Given the description of an element on the screen output the (x, y) to click on. 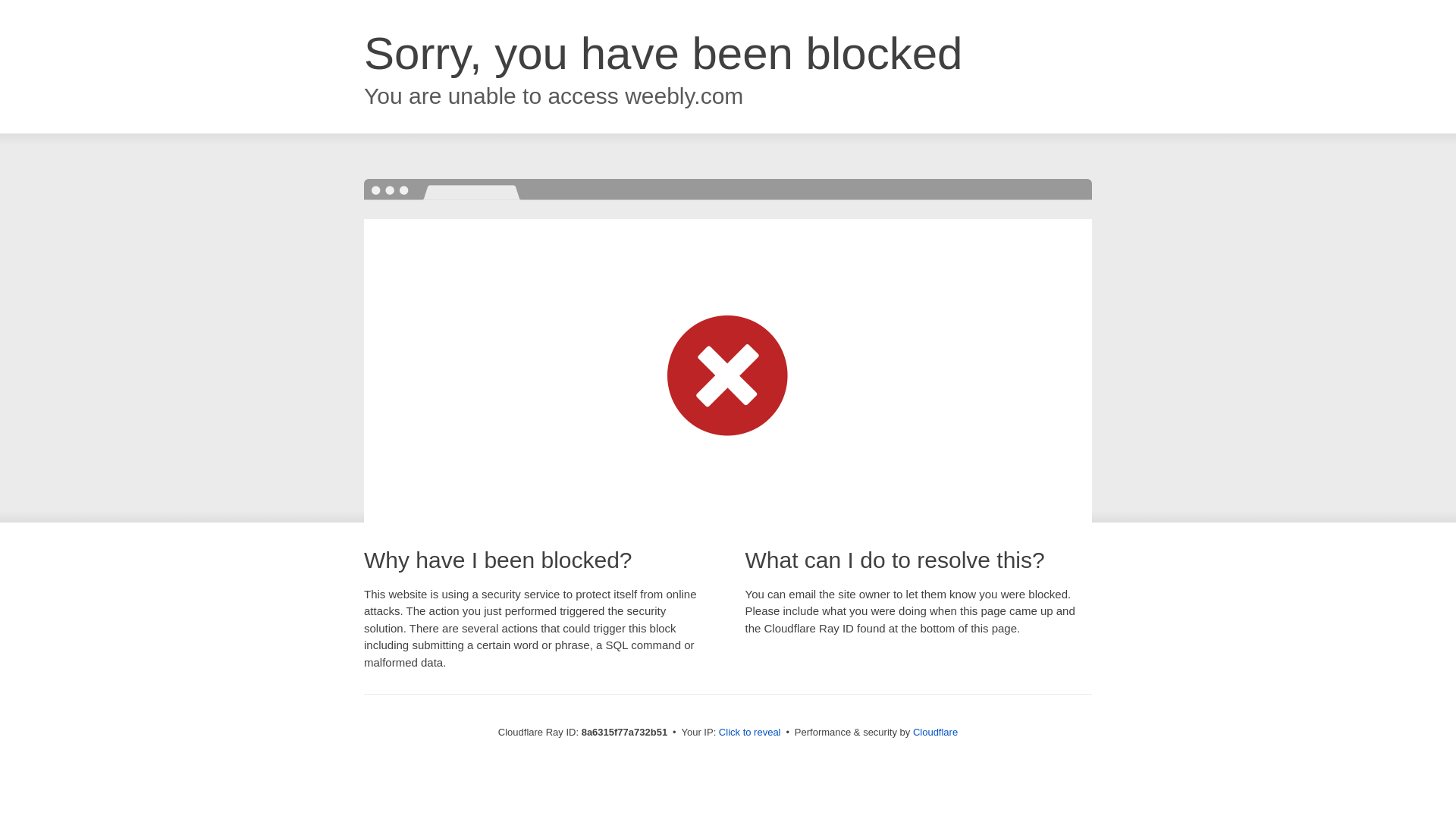
Click to reveal (749, 732)
Cloudflare (935, 731)
